Given the description of an element on the screen output the (x, y) to click on. 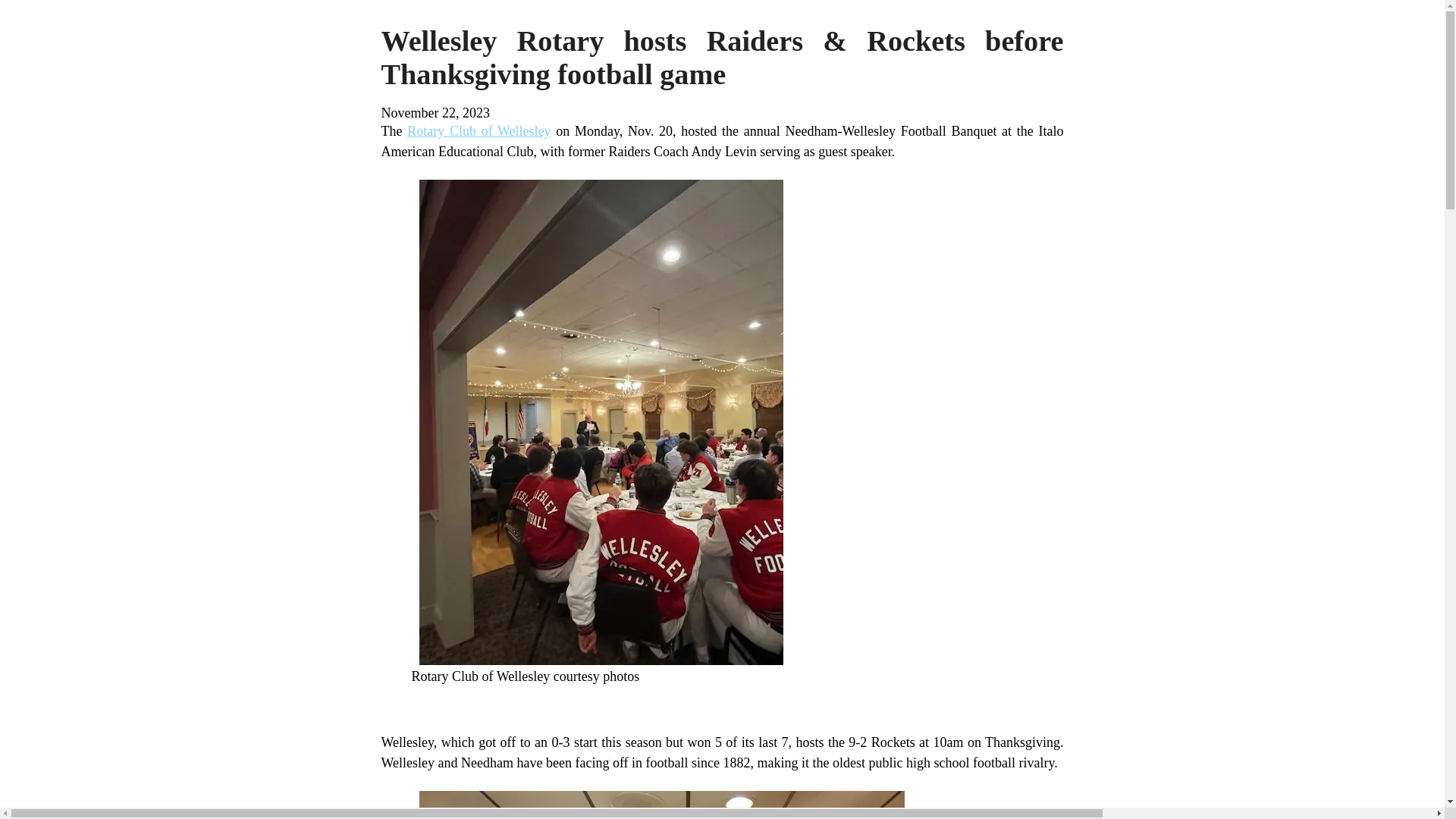
Rotary Club of Wellesley (478, 130)
